Given the description of an element on the screen output the (x, y) to click on. 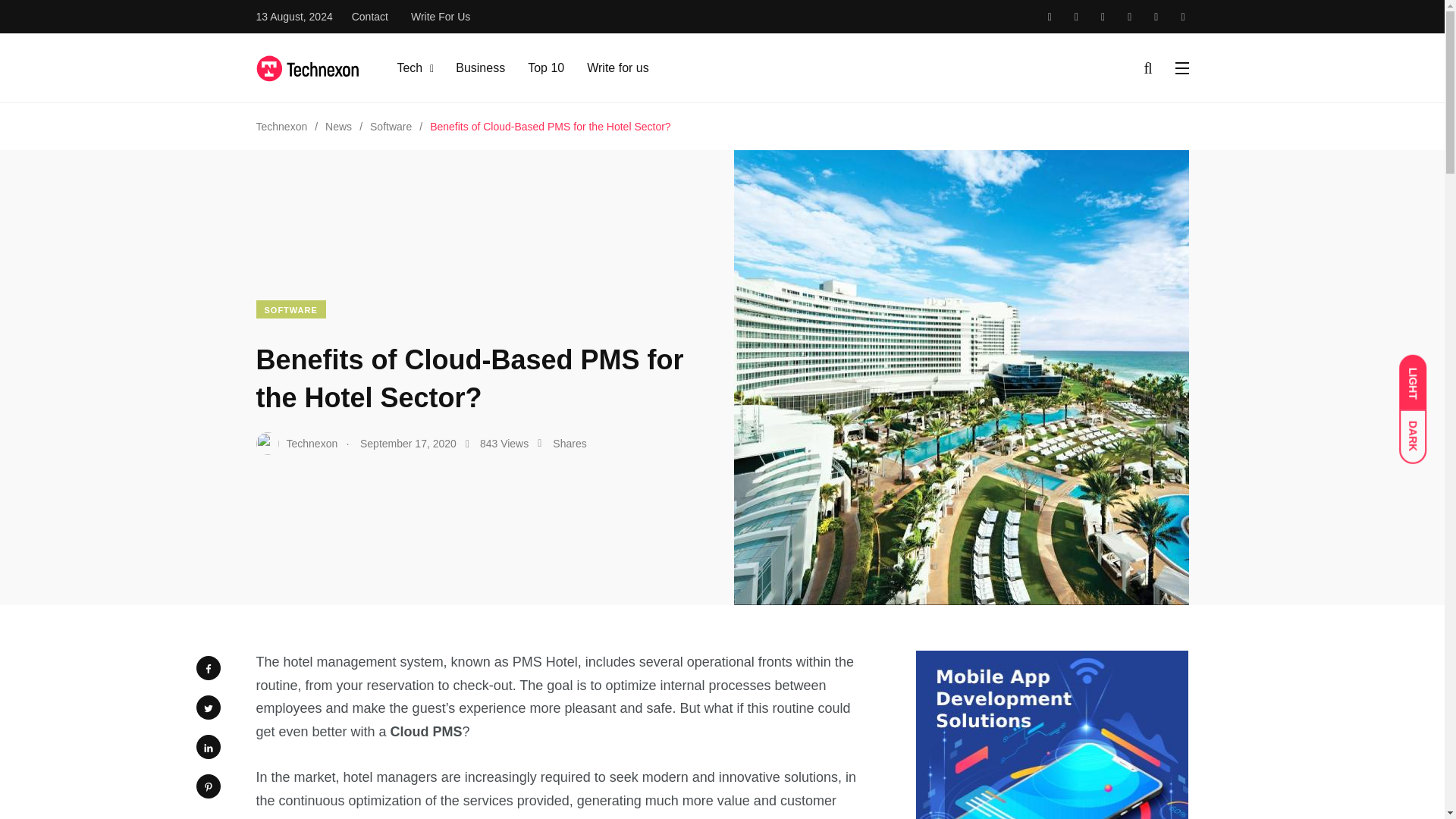
Technexon (281, 126)
Go to Technexon. (281, 126)
Share on Pinterest (207, 785)
Share on LinkedIn (207, 746)
Share on Facebook (207, 668)
Write For Us (440, 16)
Business (480, 67)
News (338, 126)
Top 10 (545, 67)
Go to News. (338, 126)
